Given the description of an element on the screen output the (x, y) to click on. 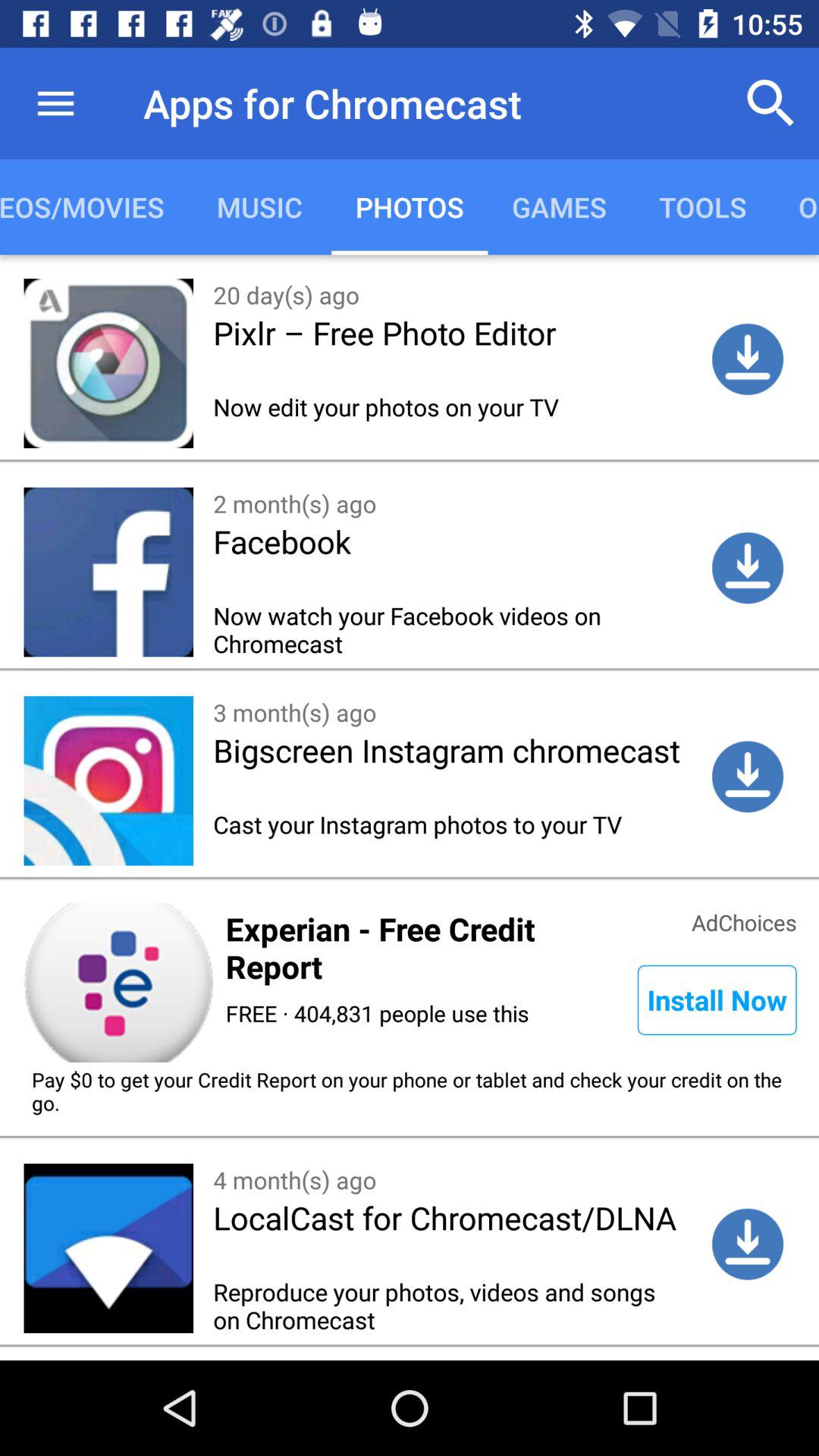
turn on the icon next to experian free credit (743, 921)
